Given the description of an element on the screen output the (x, y) to click on. 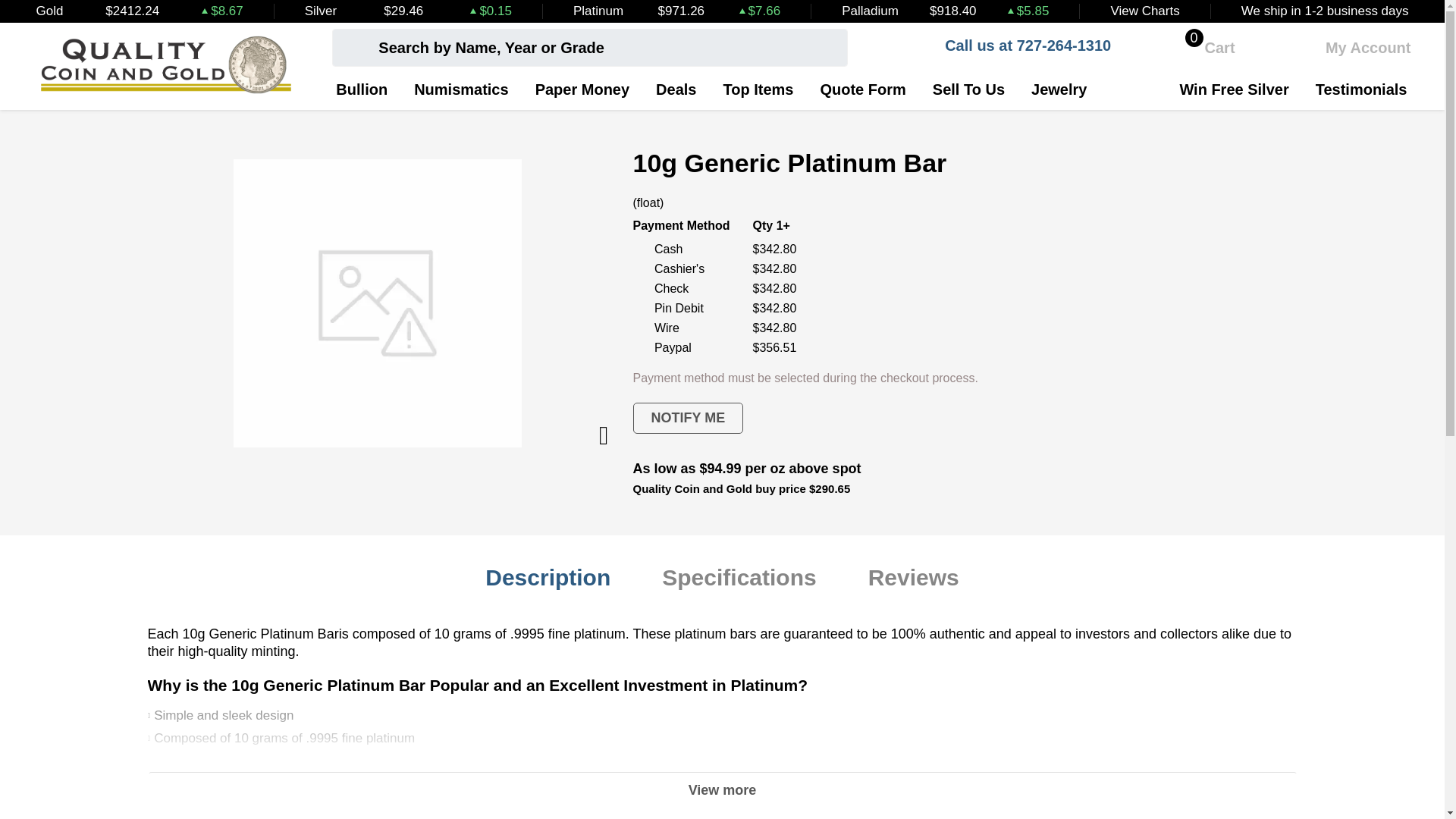
View Charts (1144, 11)
Call us at 727-264-1310 (1009, 47)
Bullion (361, 89)
My Account (1352, 47)
Numismatics (1203, 47)
